Given the description of an element on the screen output the (x, y) to click on. 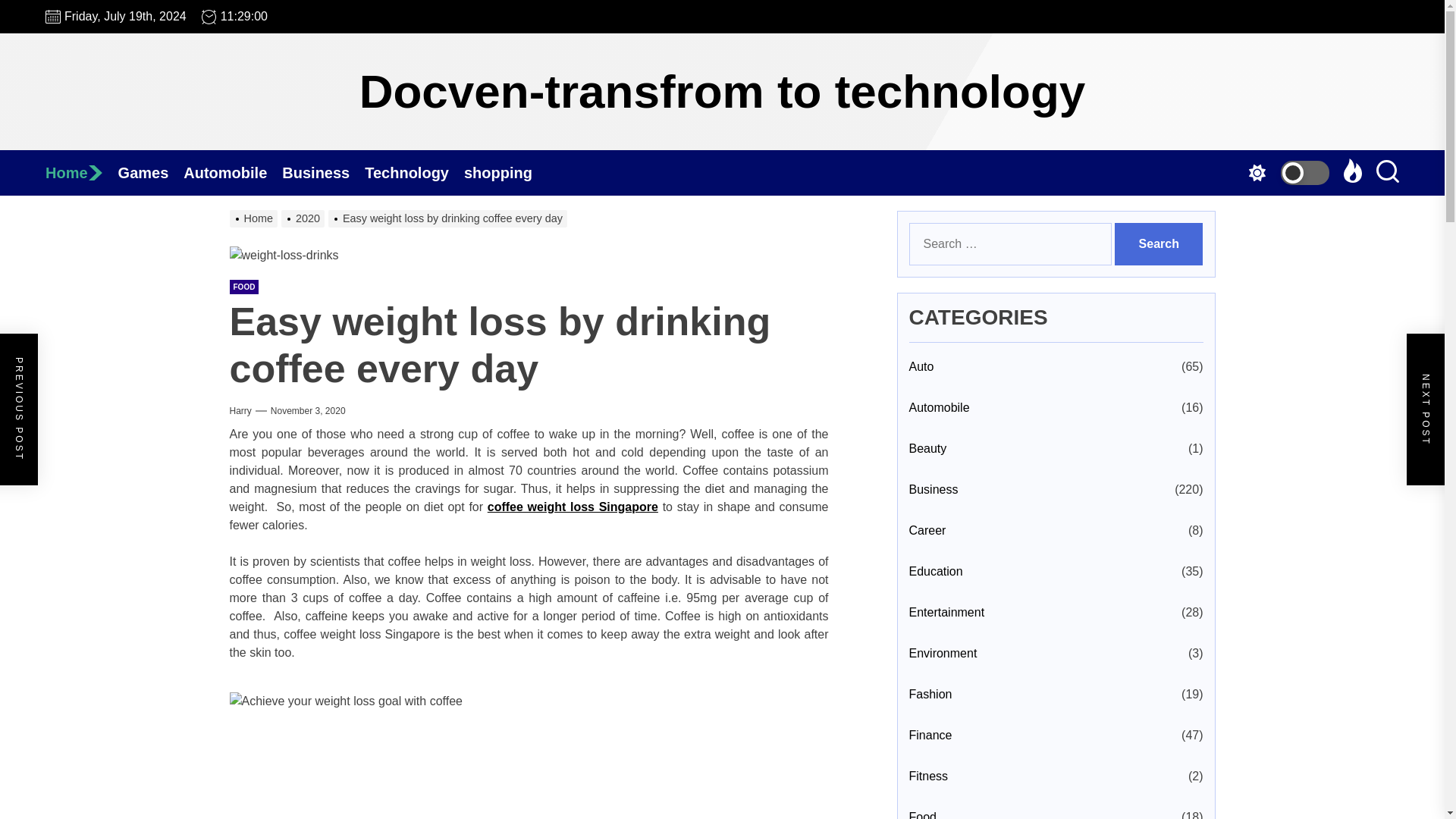
Technology (414, 172)
Automobile (232, 172)
Search (1158, 243)
Docven-transfrom to technology (722, 91)
Search (1158, 243)
Home (81, 172)
shopping (505, 172)
Games (150, 172)
Business (323, 172)
Home (81, 172)
